Given the description of an element on the screen output the (x, y) to click on. 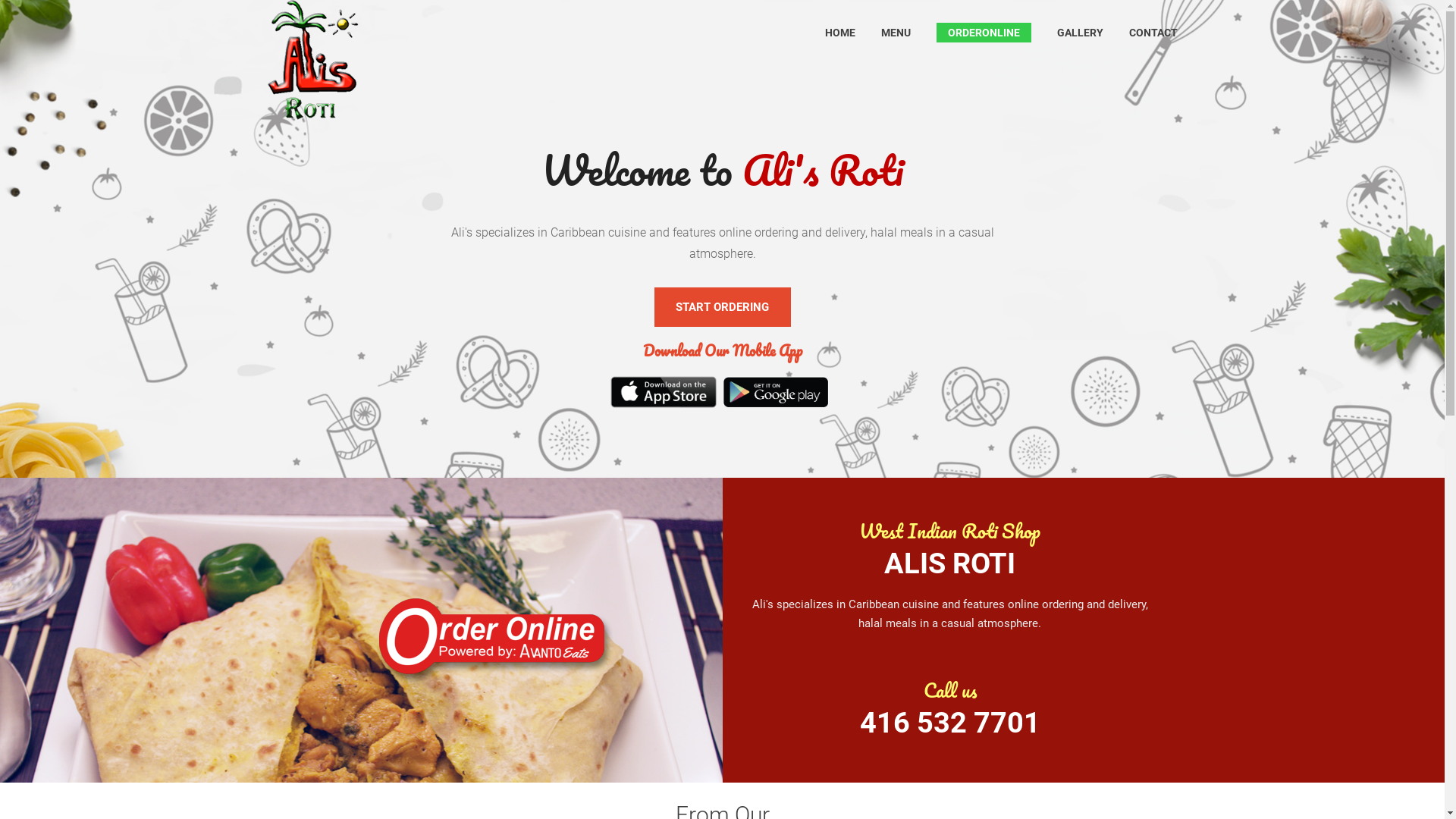
CONTACT Element type: text (1152, 32)
MENU Element type: text (895, 32)
START ORDERING Element type: text (721, 306)
HOME Element type: text (840, 32)
ORDERONLINE Element type: text (983, 32)
GALLERY Element type: text (1080, 32)
